Given the description of an element on the screen output the (x, y) to click on. 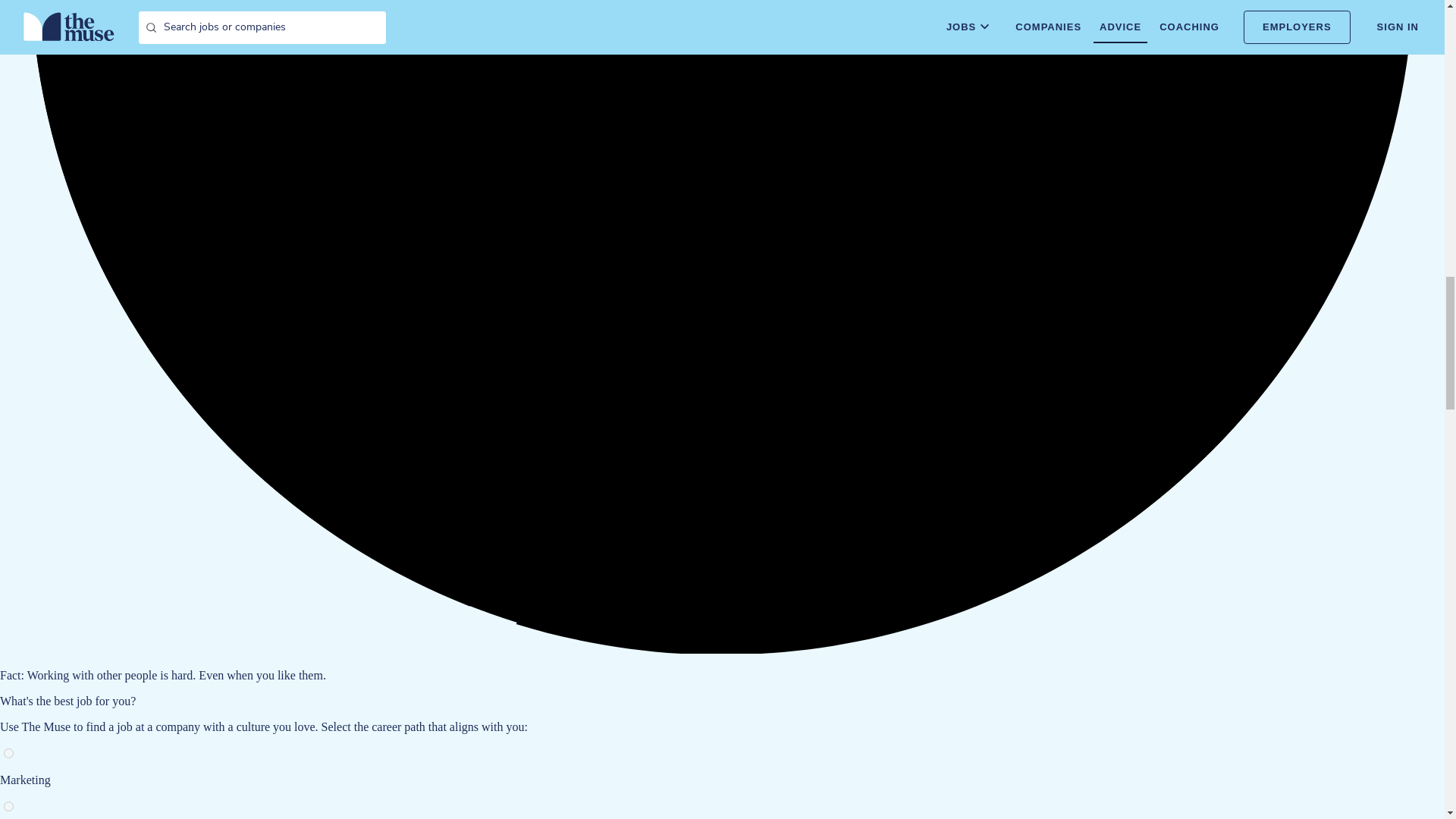
marketing (8, 753)
sales (8, 806)
